Given the description of an element on the screen output the (x, y) to click on. 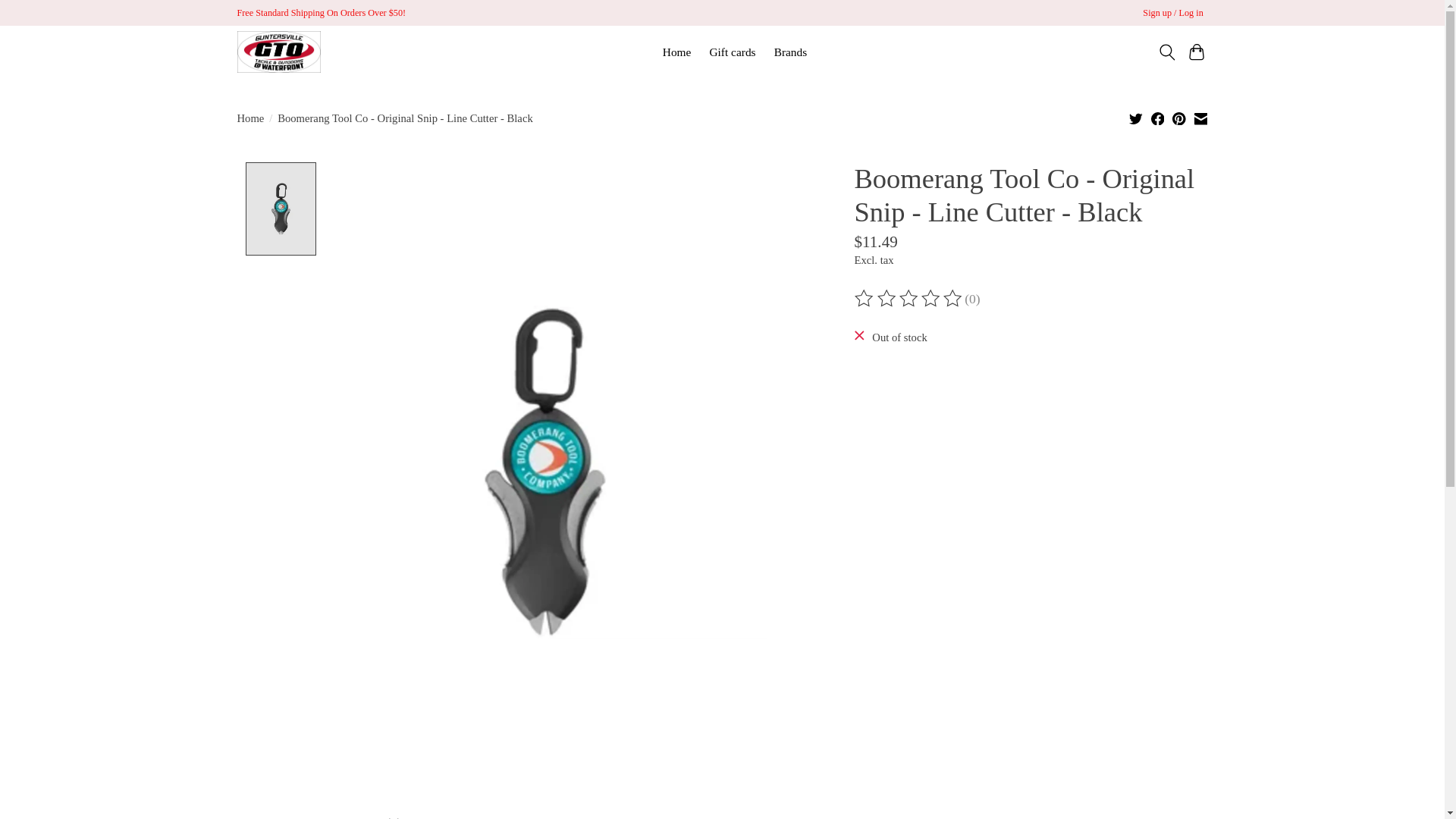
Share by Email (1200, 120)
Share on Pinterest (1179, 120)
Share on Twitter (1135, 118)
Share on Facebook (1157, 120)
Brands (790, 52)
Home (249, 118)
Gift cards (732, 52)
Share on Facebook (1157, 118)
Description (279, 812)
Share on Twitter (1135, 120)
